Given the description of an element on the screen output the (x, y) to click on. 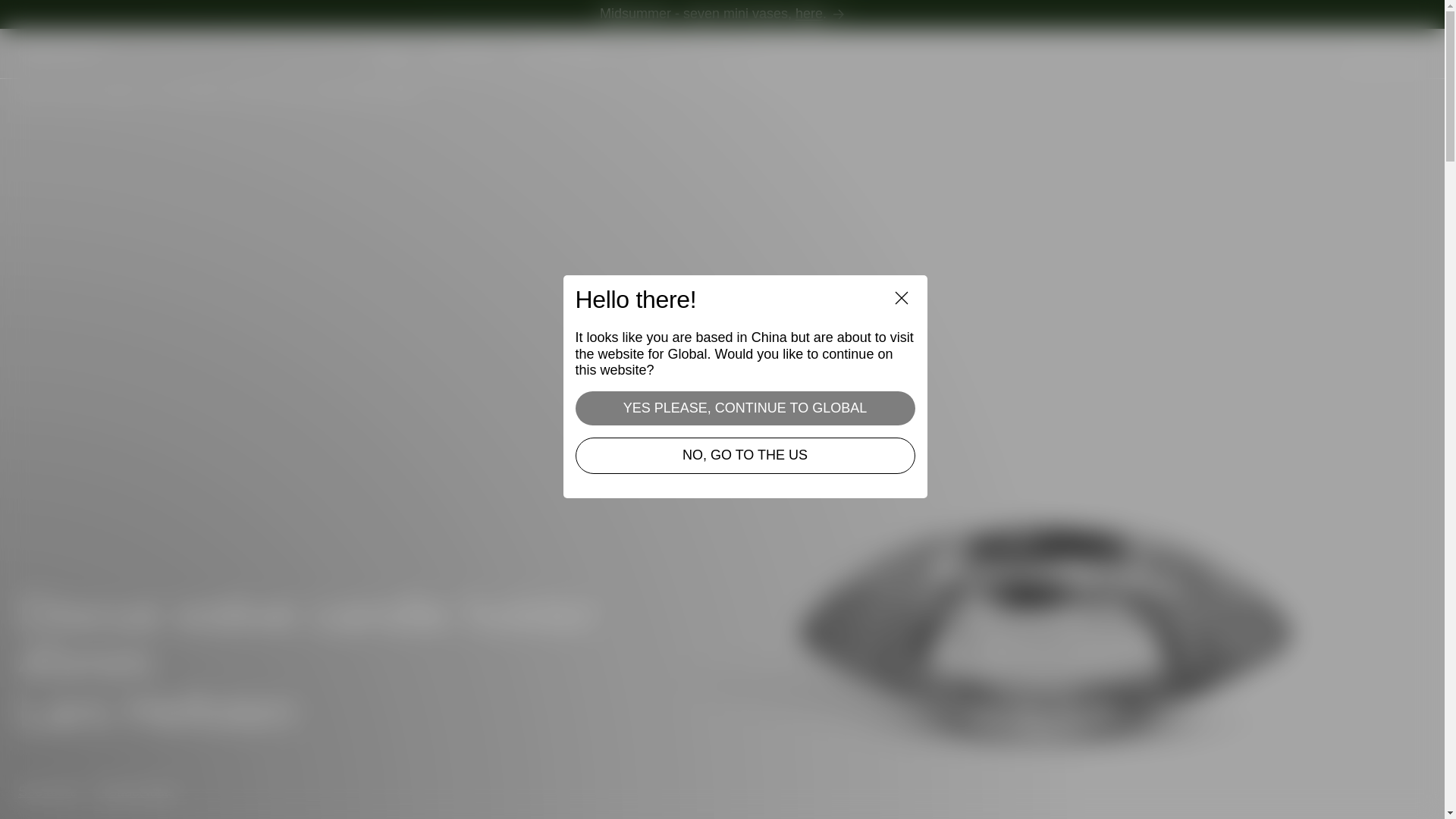
YES PLEASE, CONTINUE TO GLOBAL (744, 408)
here (808, 13)
NO, GO TO THE US (744, 455)
Sustainability (561, 53)
